Given the description of an element on the screen output the (x, y) to click on. 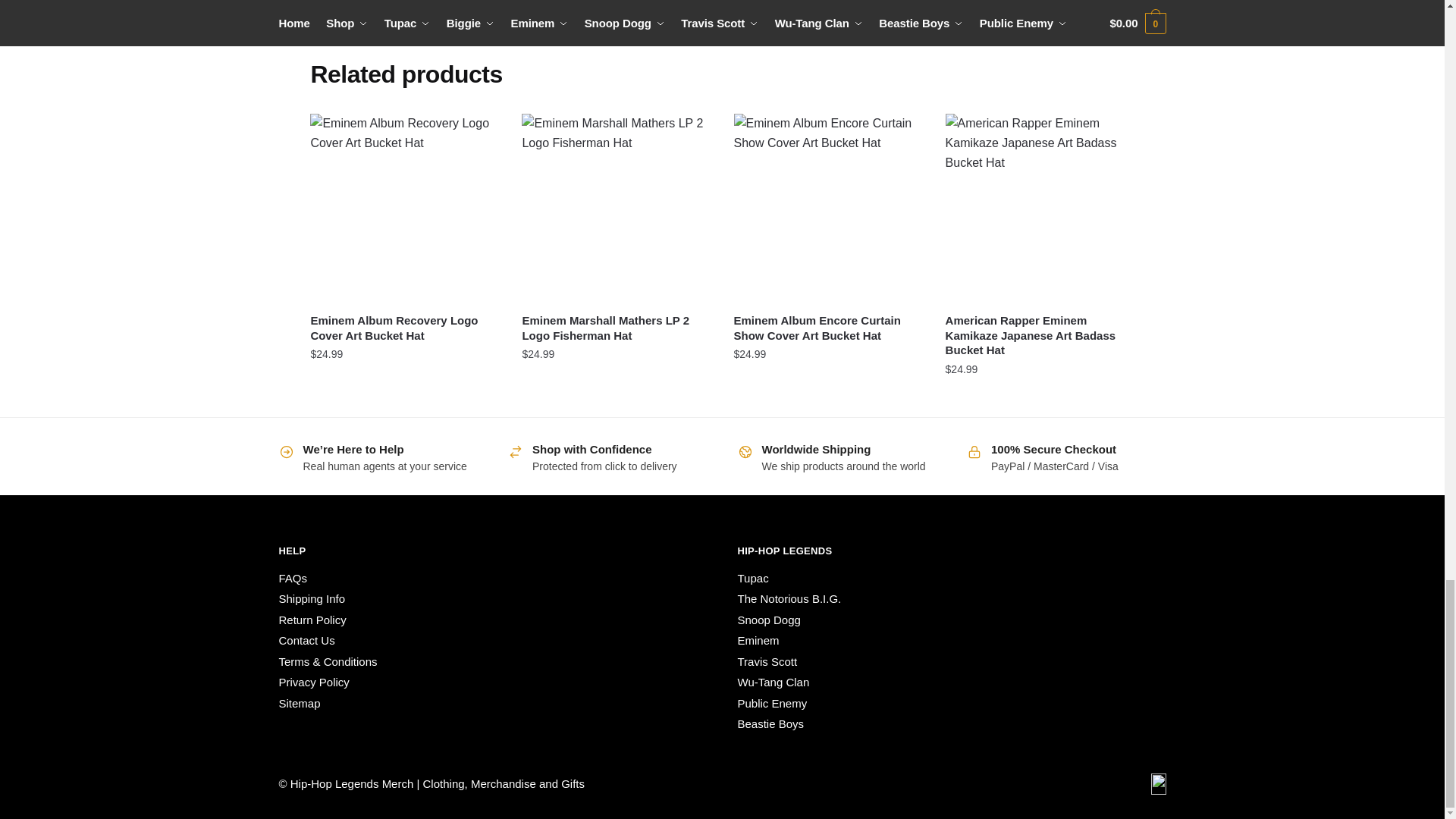
Eminem Album Recovery Logo Cover Art Bucket Hat (404, 207)
Eminem Album Encore Curtain Show Cover Art Bucket Hat (828, 207)
Eminem Marshall Mathers LP 2 Logo Fisherman Hat (615, 207)
